Given the description of an element on the screen output the (x, y) to click on. 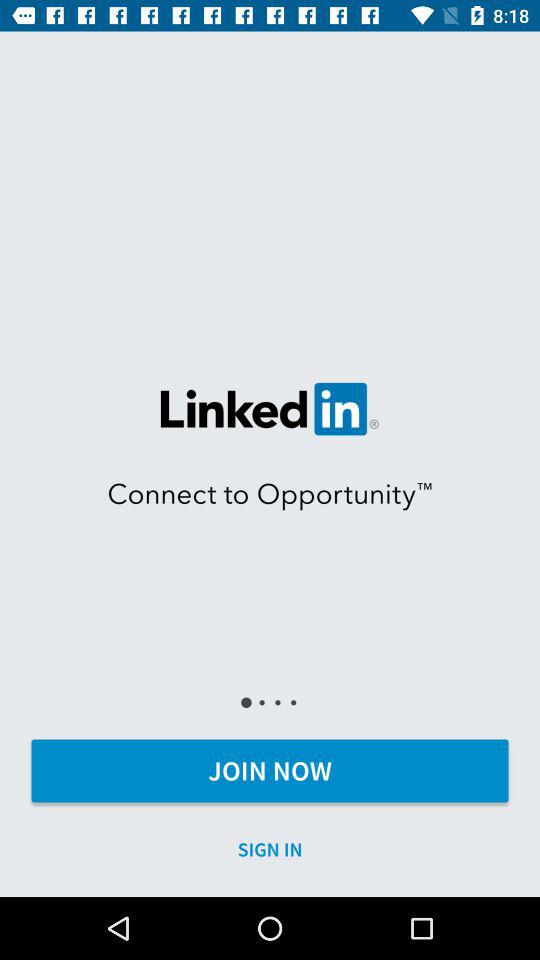
flip until sign in (269, 849)
